Given the description of an element on the screen output the (x, y) to click on. 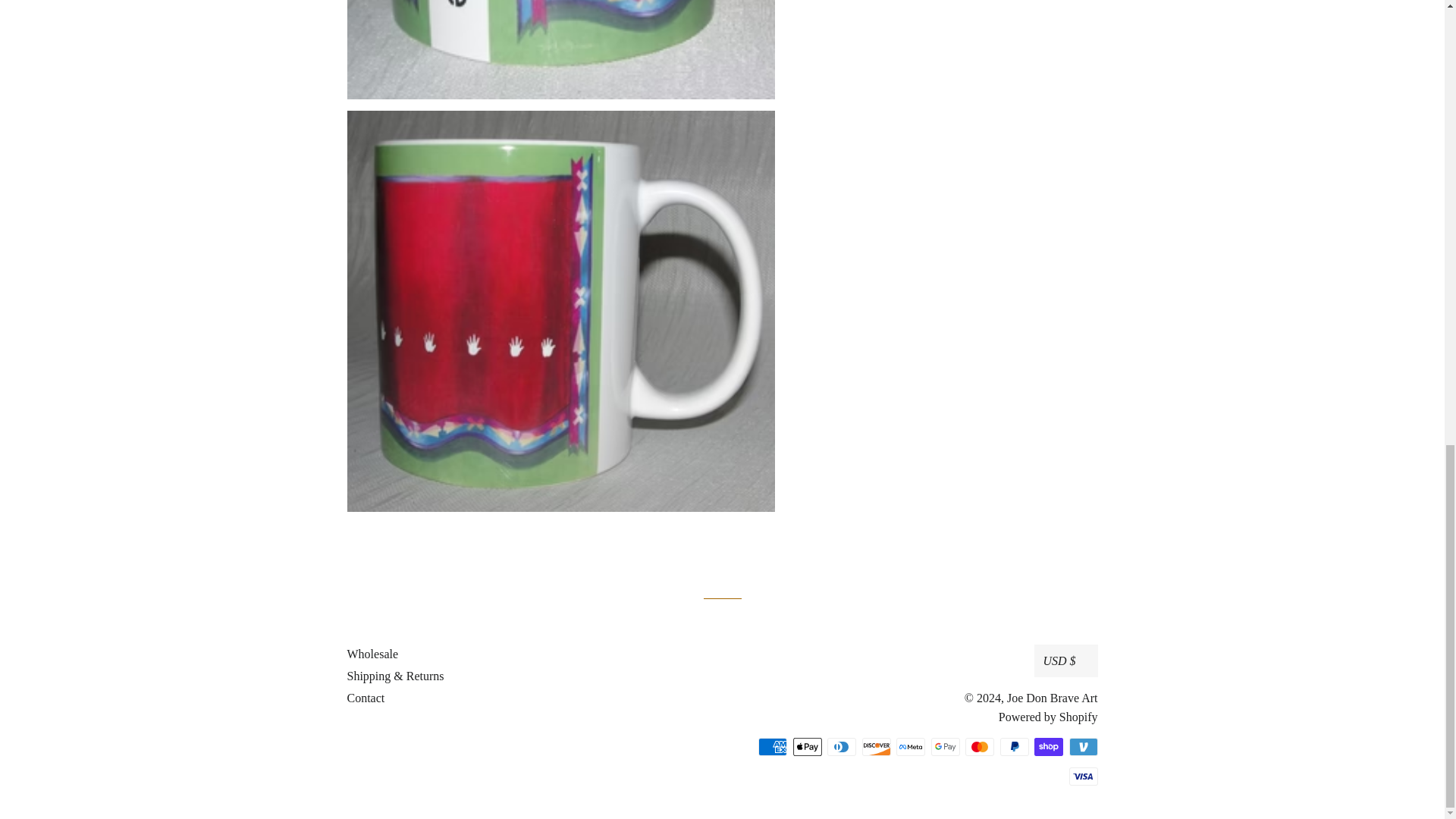
Diners Club (841, 746)
Meta Pay (910, 746)
Shop Pay (1047, 746)
Discover (875, 746)
Apple Pay (807, 746)
American Express (772, 746)
Mastercard (979, 746)
Venmo (1082, 746)
Google Pay (945, 746)
Visa (1082, 776)
